Given the description of an element on the screen output the (x, y) to click on. 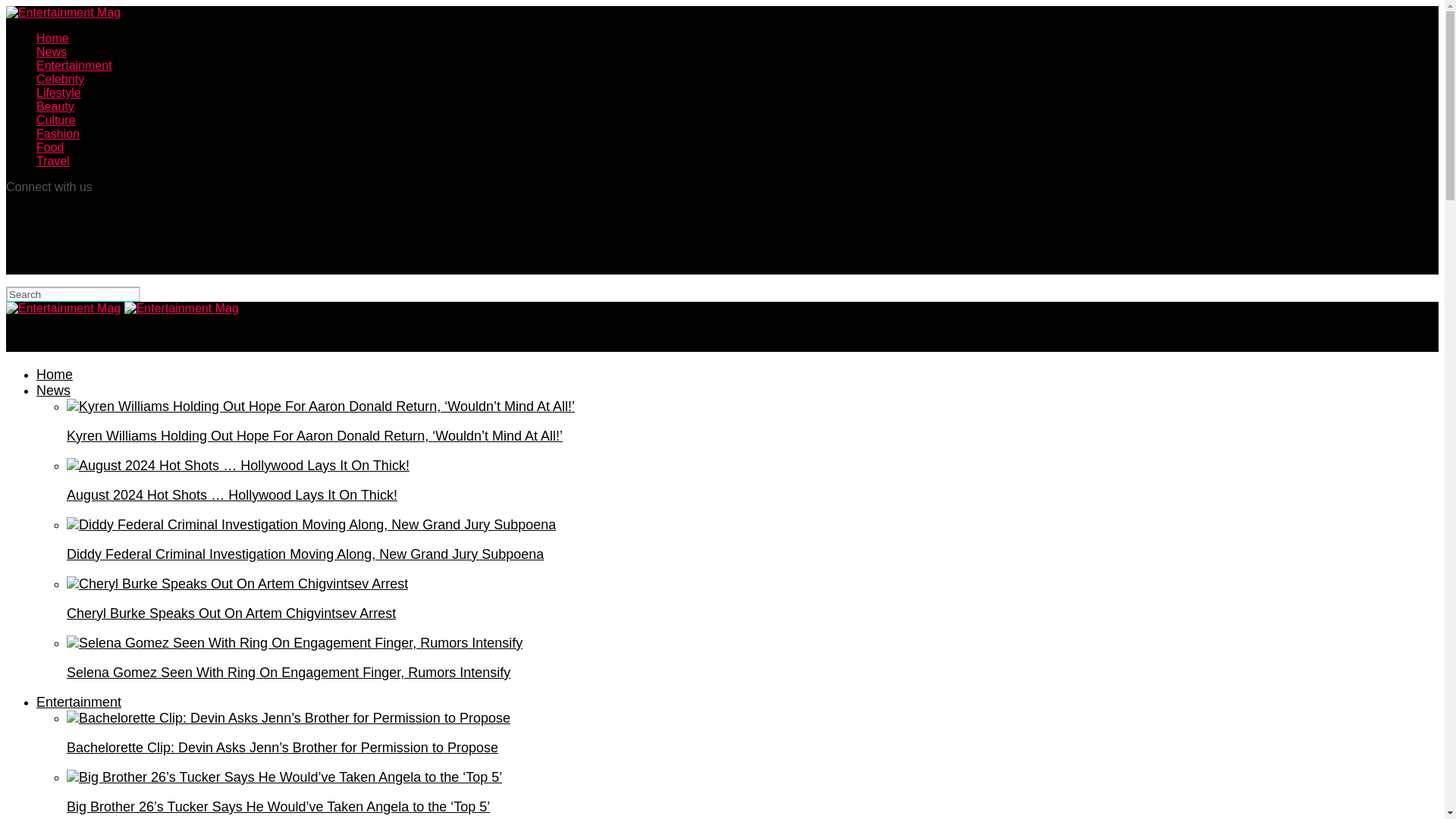
Lifestyle (58, 92)
Home (52, 38)
Cheryl Burke Speaks Out On Artem Chigvintsev Arrest (236, 584)
Entertainment (78, 702)
Travel (52, 160)
Search (72, 294)
Entertainment (74, 65)
Fashion (58, 133)
Food (50, 146)
